Given the description of an element on the screen output the (x, y) to click on. 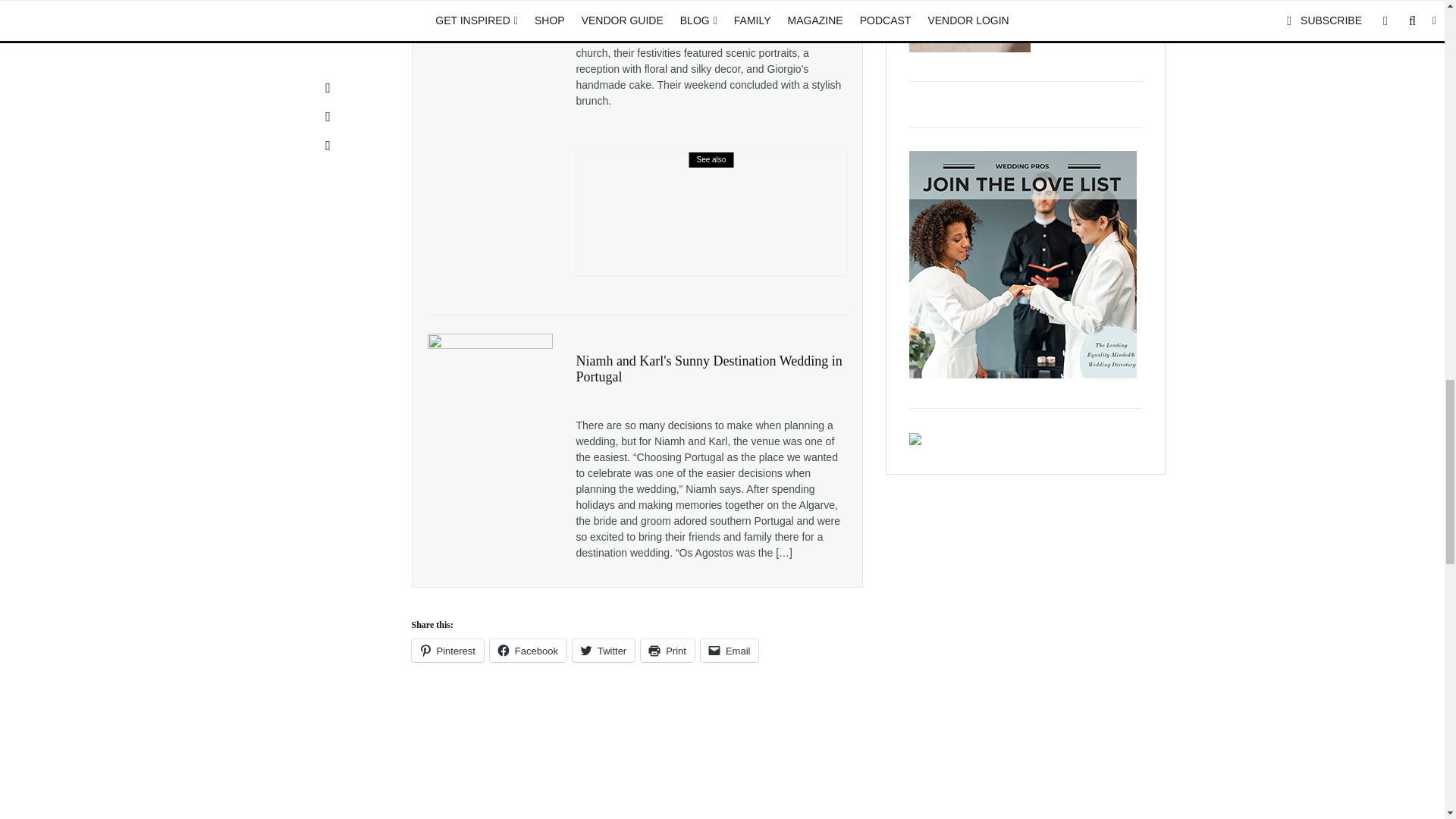
Click to share on Pinterest (446, 650)
Click to share on Facebook (527, 650)
Click to email a link to a friend (729, 650)
Click to share on Twitter (603, 650)
Click to print (667, 650)
